Given the description of an element on the screen output the (x, y) to click on. 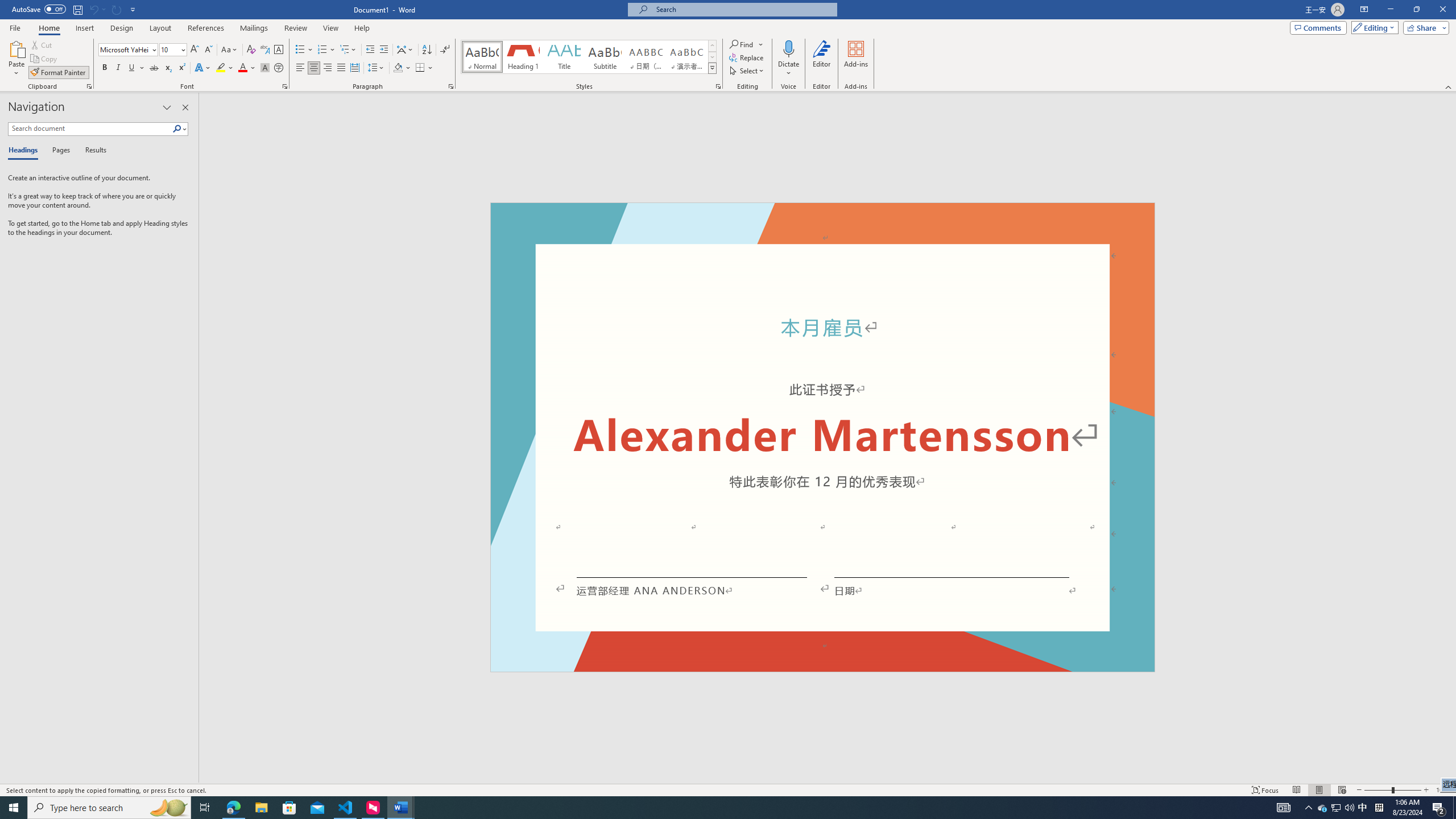
Numbering (326, 49)
Title (564, 56)
Font Color Red (241, 67)
Underline (131, 67)
Footer -Section 1- (822, 666)
System (6, 6)
Review (295, 28)
Change Case (229, 49)
Comments (1318, 27)
Select (747, 69)
Dictate (788, 48)
Superscript (180, 67)
Close pane (185, 107)
Microsoft search (742, 9)
